Given the description of an element on the screen output the (x, y) to click on. 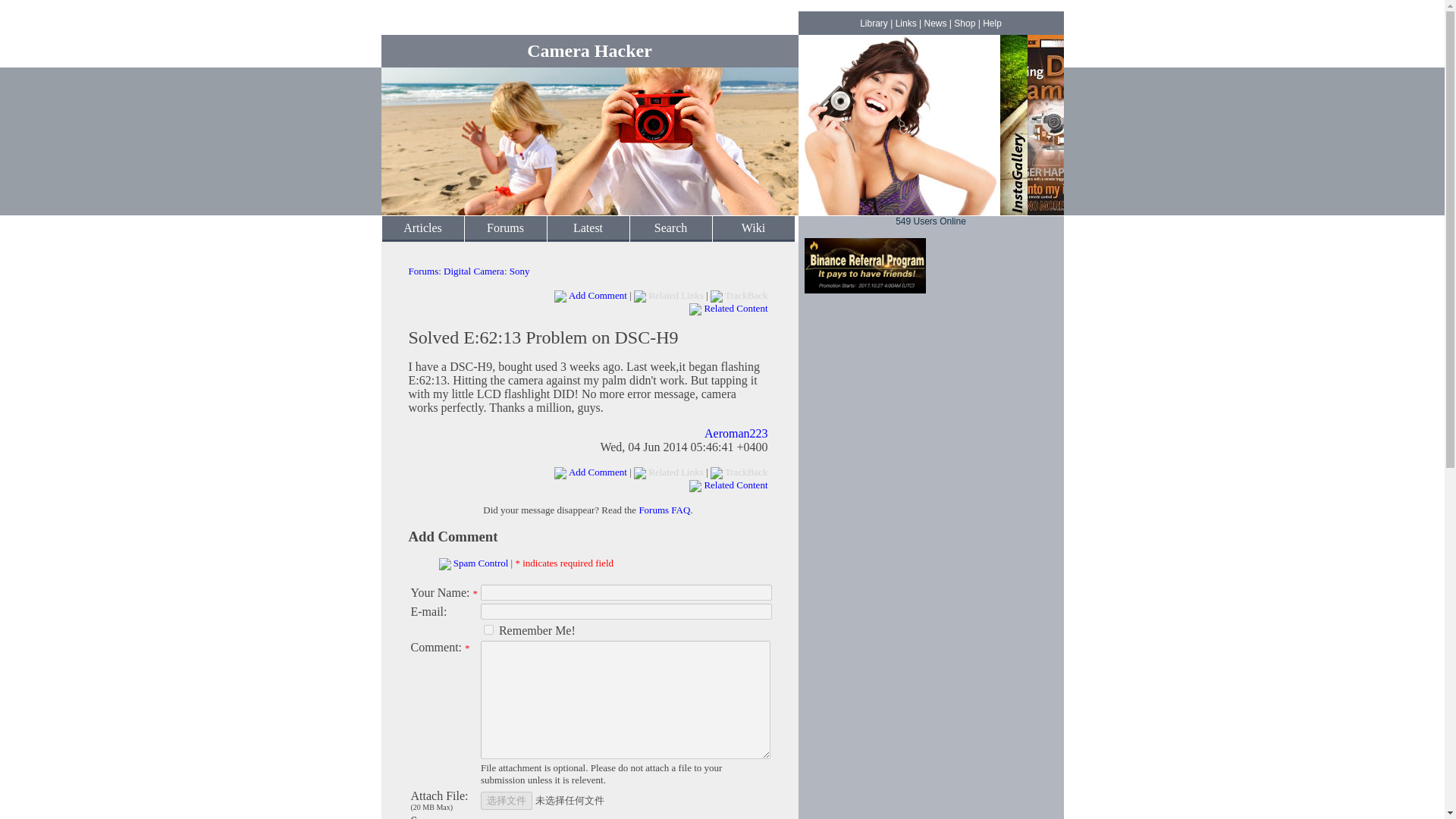
Add Comment (452, 536)
Links (906, 23)
Forums FAQ (664, 509)
Related Content (735, 484)
Aeroman223 (736, 432)
yes (488, 629)
Add Comment (598, 295)
Search (670, 227)
Digital Camera (473, 270)
Related Content (735, 307)
Camera Hacker (589, 50)
Latest (587, 227)
Sony (519, 270)
Library (874, 23)
Spam Control (480, 562)
